Given the description of an element on the screen output the (x, y) to click on. 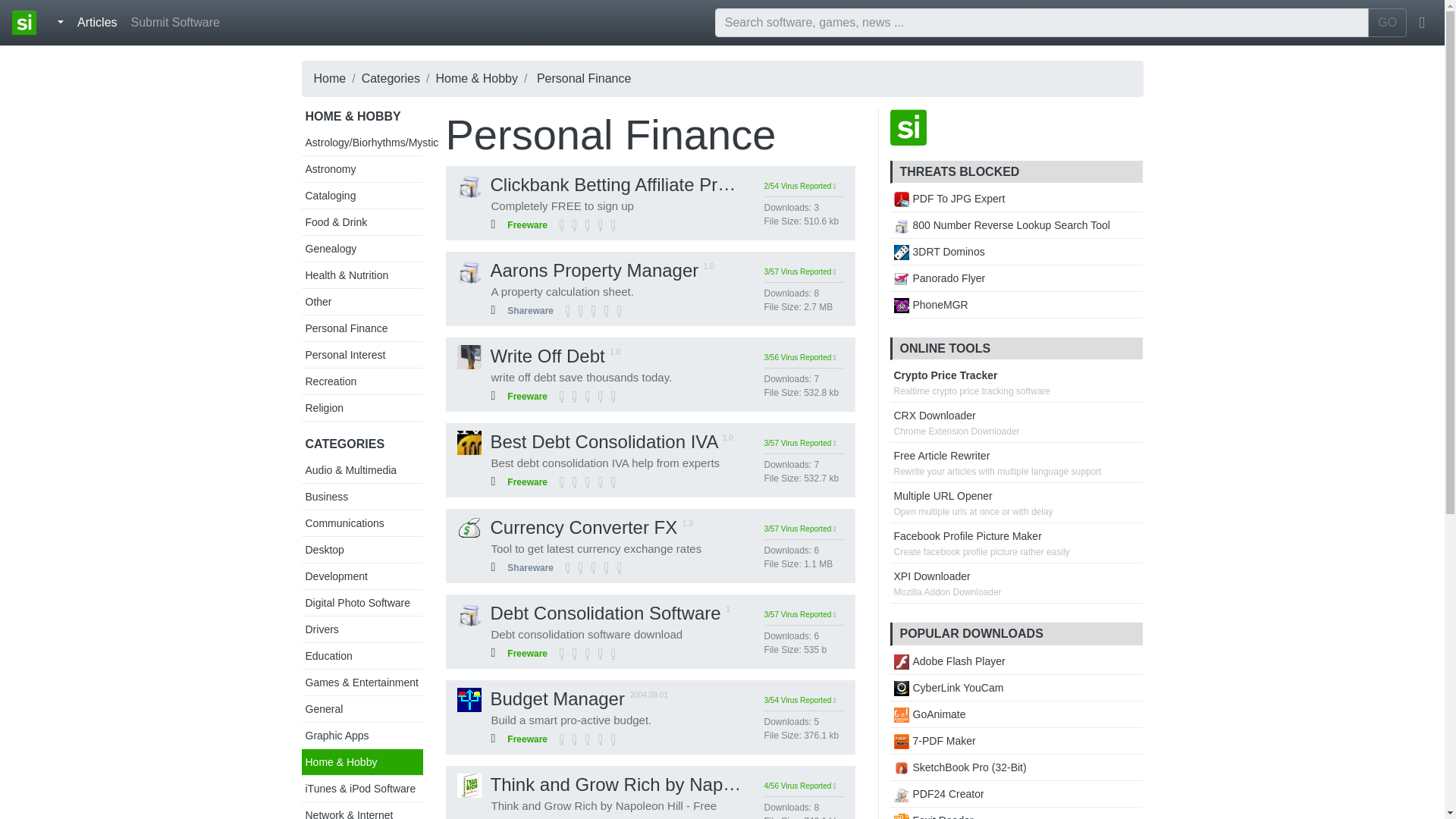
Drivers (320, 629)
Desktop (323, 549)
Cataloging (329, 195)
Development (336, 576)
Education (328, 655)
Personal Finance (345, 328)
GO (1387, 22)
Communications (344, 522)
Religion (323, 408)
Recreation (330, 381)
